Given the description of an element on the screen output the (x, y) to click on. 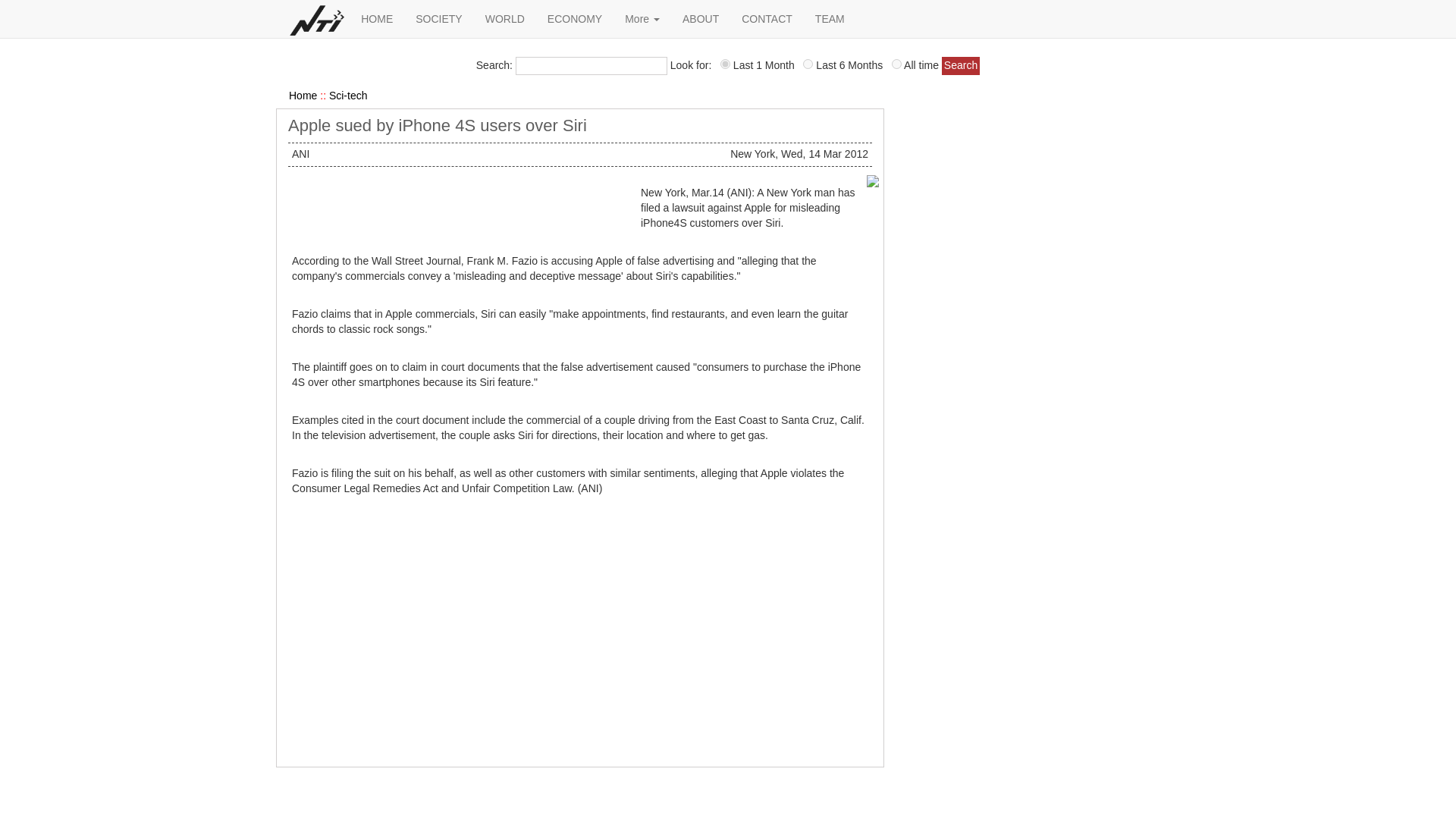
WORLD (504, 18)
CONTACT (766, 18)
HOME (376, 18)
SOCIETY (438, 18)
6 (807, 63)
ABOUT (700, 18)
TEAM (829, 18)
1 (725, 63)
Sci-tech (348, 95)
More (641, 18)
Home (302, 95)
Search (960, 65)
ECONOMY (573, 18)
all (896, 63)
